Given the description of an element on the screen output the (x, y) to click on. 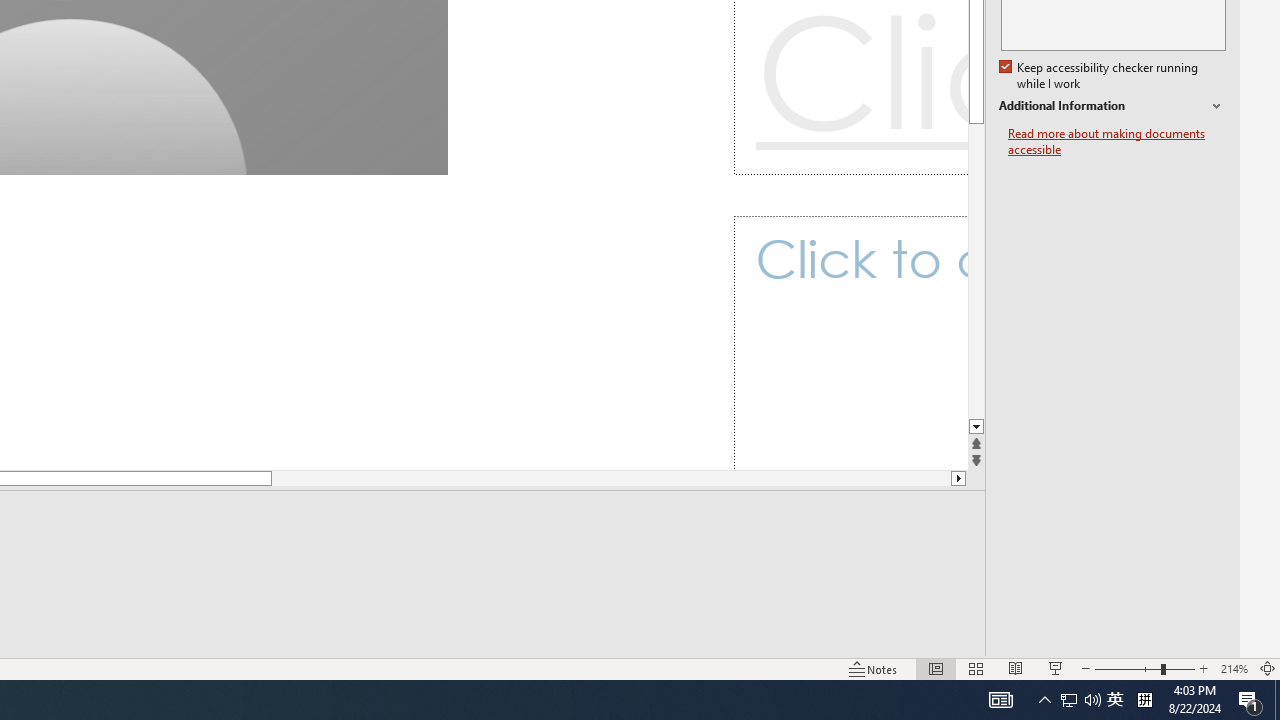
Subtitle TextBox (850, 343)
Zoom 214% (1234, 668)
Read more about making documents accessible (1117, 142)
Keep accessibility checker running while I work (1099, 76)
Additional Information (1112, 106)
